Given the description of an element on the screen output the (x, y) to click on. 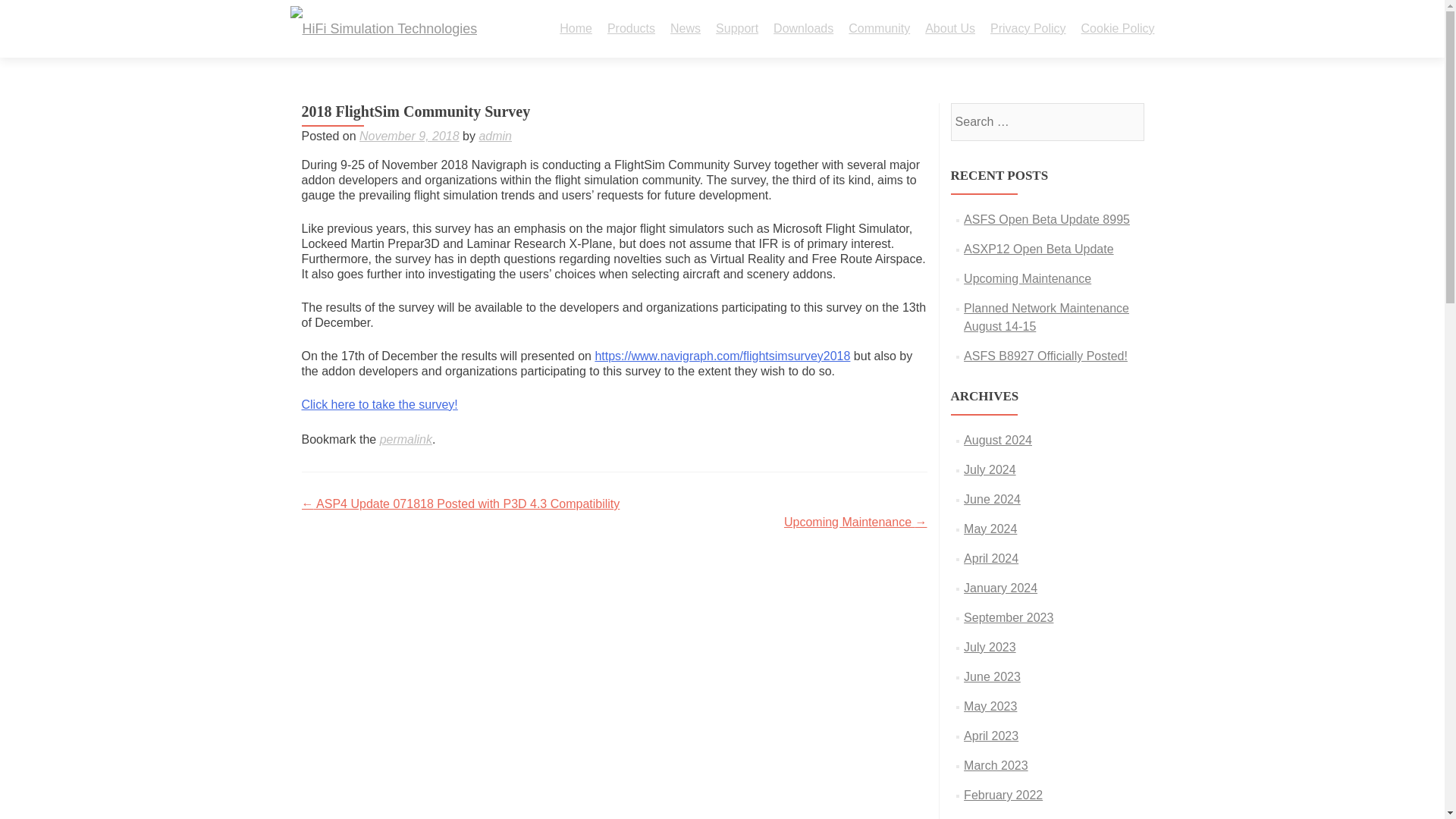
January 2024 (999, 587)
Support (737, 28)
Upcoming Maintenance (1026, 278)
May 2023 (989, 706)
Cookie Policy (1117, 28)
March 2023 (995, 765)
Click here to take the survey! (379, 404)
November 9, 2018 (409, 135)
ASFS Open Beta Update 8995 (1046, 219)
May 2024 (989, 528)
